Given the description of an element on the screen output the (x, y) to click on. 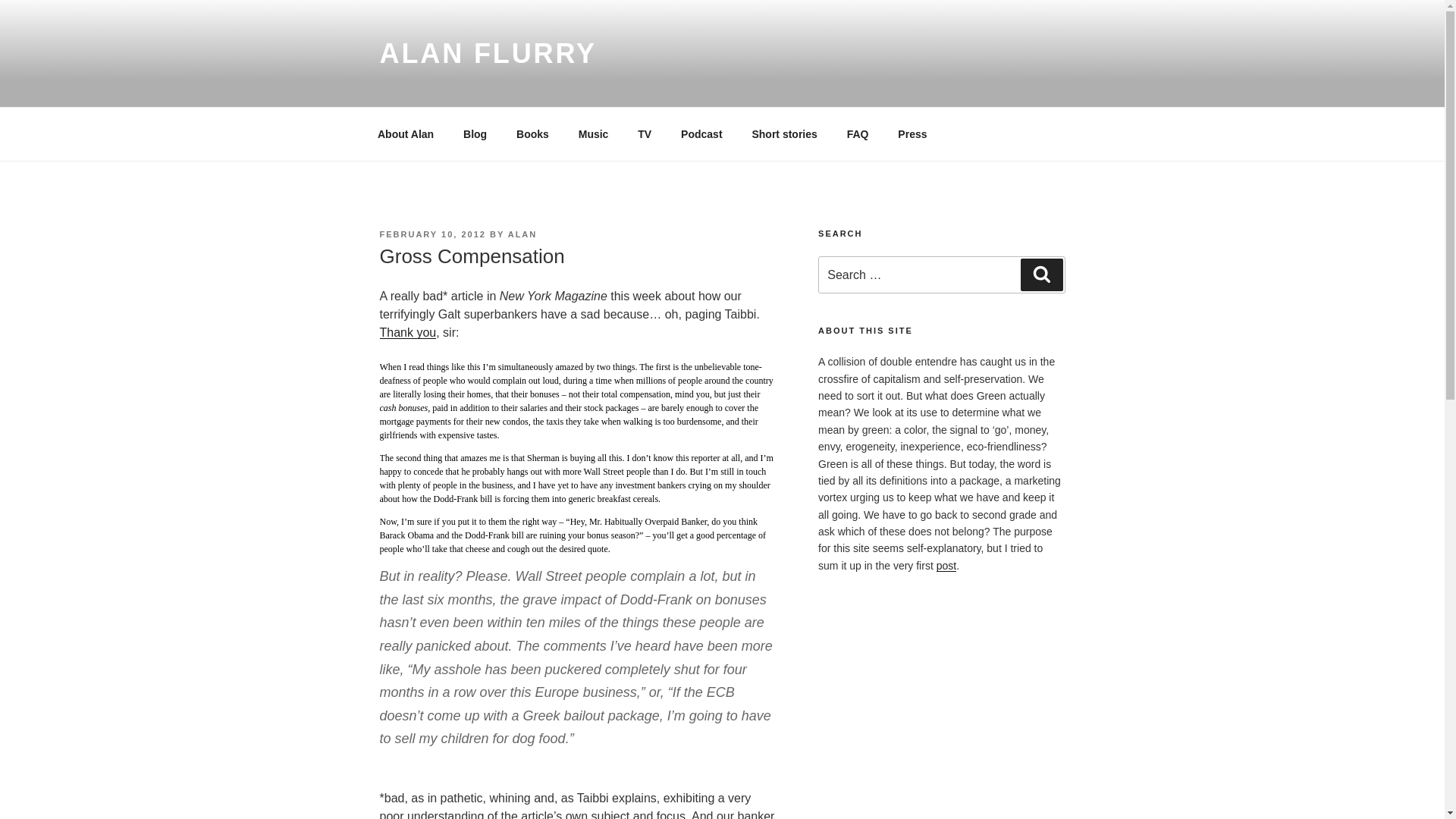
FEBRUARY 10, 2012 (431, 234)
Search (1041, 274)
ALAN (522, 234)
post (946, 565)
TV (644, 133)
Books (532, 133)
FAQ (857, 133)
Press (912, 133)
Thank you (406, 332)
Podcast (701, 133)
Music (592, 133)
ALAN FLURRY (486, 52)
About Alan (405, 133)
Blog (474, 133)
Short stories (783, 133)
